Given the description of an element on the screen output the (x, y) to click on. 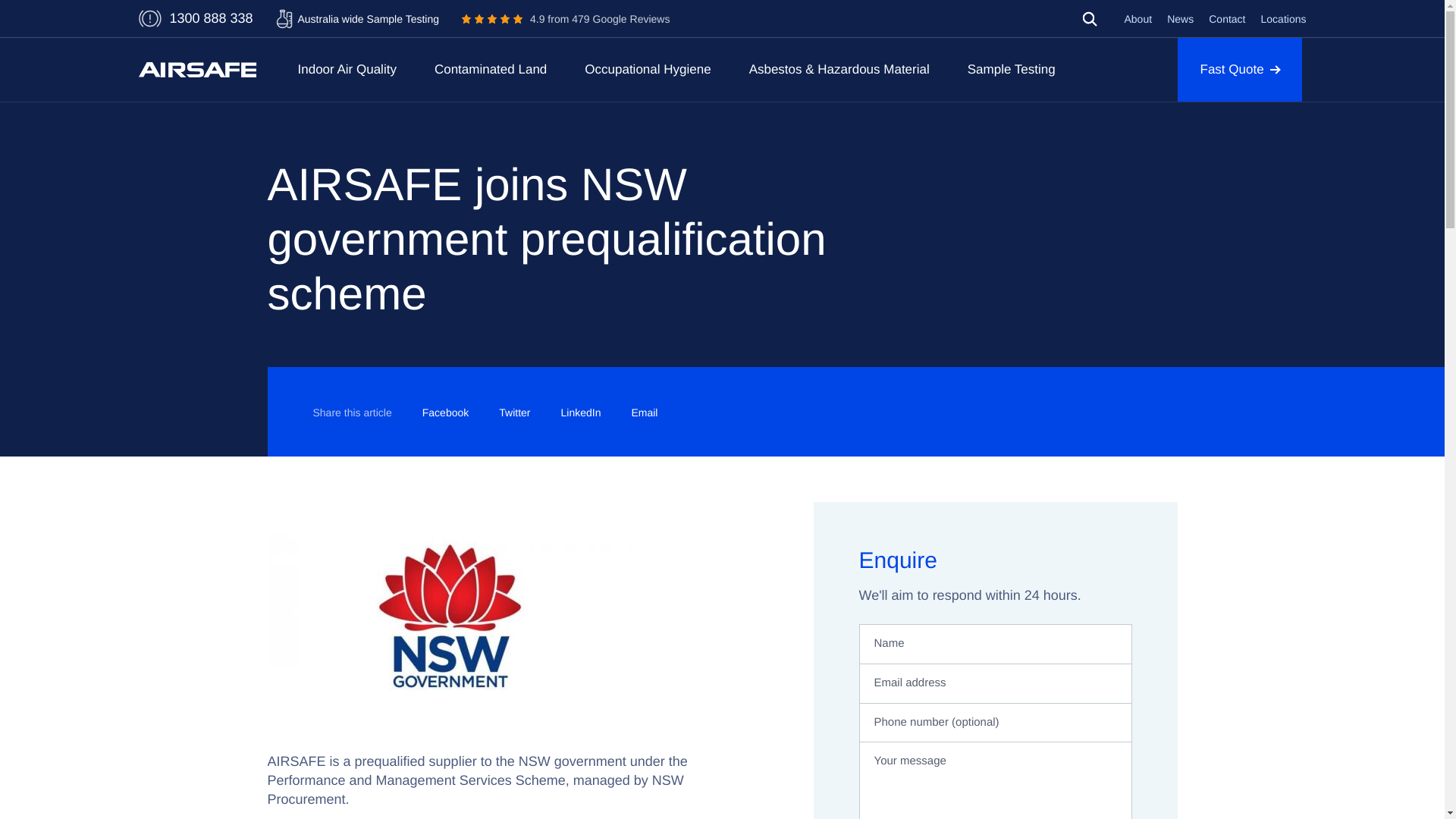
Search icon (1088, 20)
4.9 from 479 Google Reviews (1088, 18)
Indoor Air Quality (565, 19)
Skip to Content (346, 69)
Lab testing icon Australia wide Sample Testing (1088, 18)
Contaminated Land (357, 19)
Warning light icon (490, 69)
Occupational Hygiene (149, 18)
1300 888 338 (647, 69)
